Given the description of an element on the screen output the (x, y) to click on. 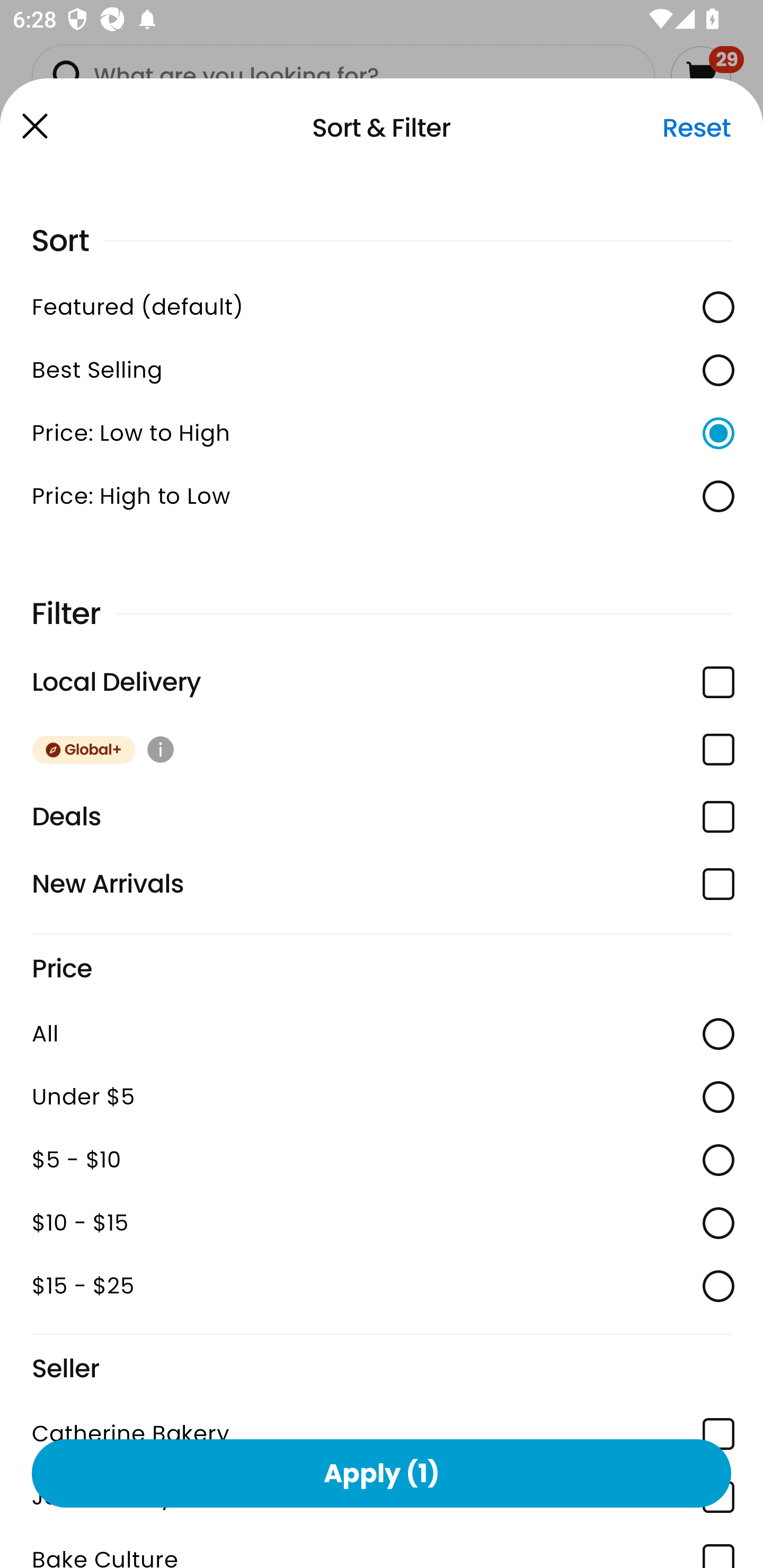
Reset (696, 127)
Apply (1) (381, 1472)
